Given the description of an element on the screen output the (x, y) to click on. 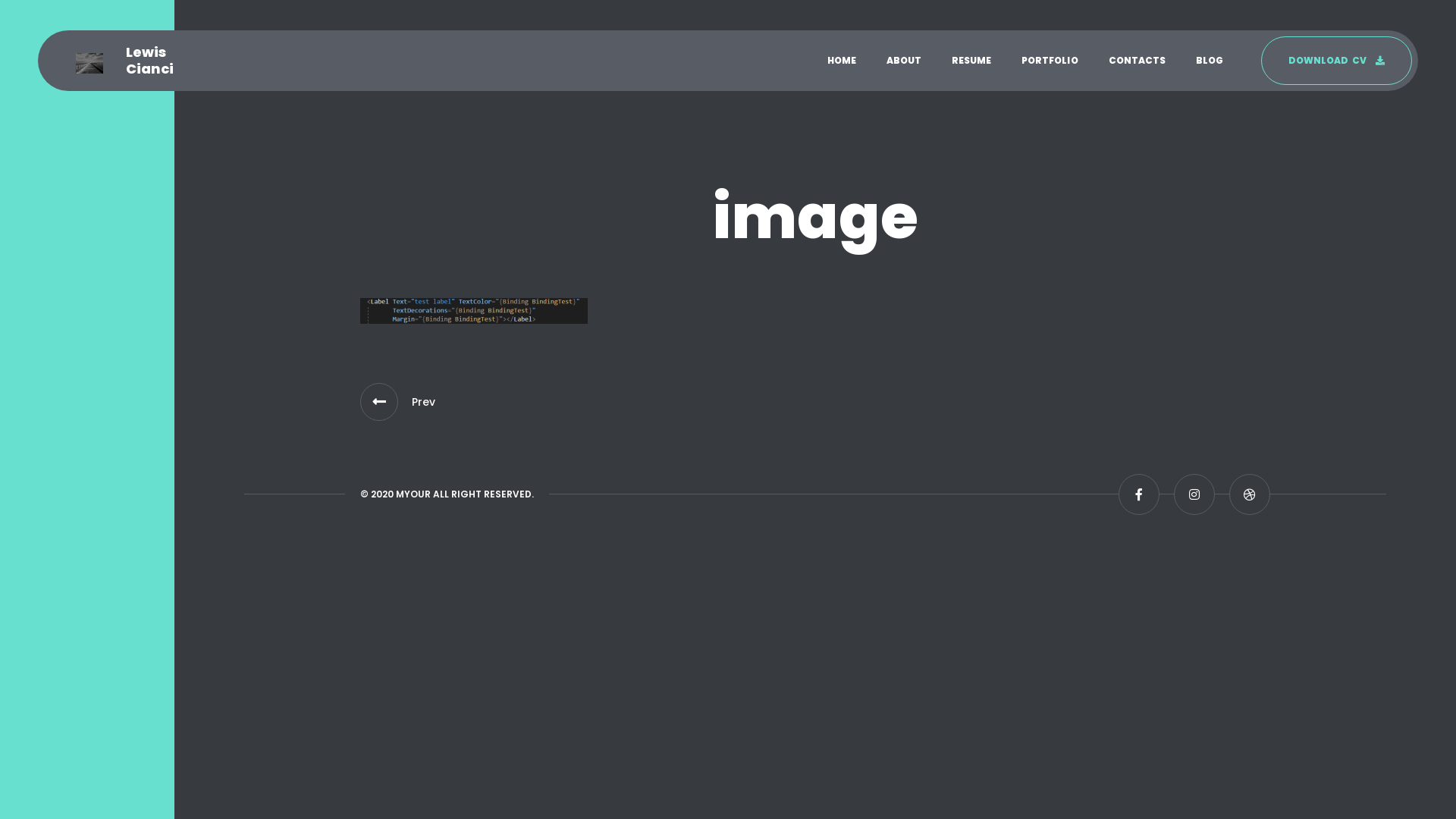
CONTACTS Element type: text (1136, 60)
DOWNLOAD CV Element type: text (1336, 60)
Lewis
Cianci Element type: text (124, 59)
Prev Element type: text (379, 401)
PORTFOLIO Element type: text (1049, 60)
HOME Element type: text (841, 60)
ABOUT Element type: text (903, 60)
RESUME Element type: text (971, 60)
BLOG Element type: text (1209, 60)
